Given the description of an element on the screen output the (x, y) to click on. 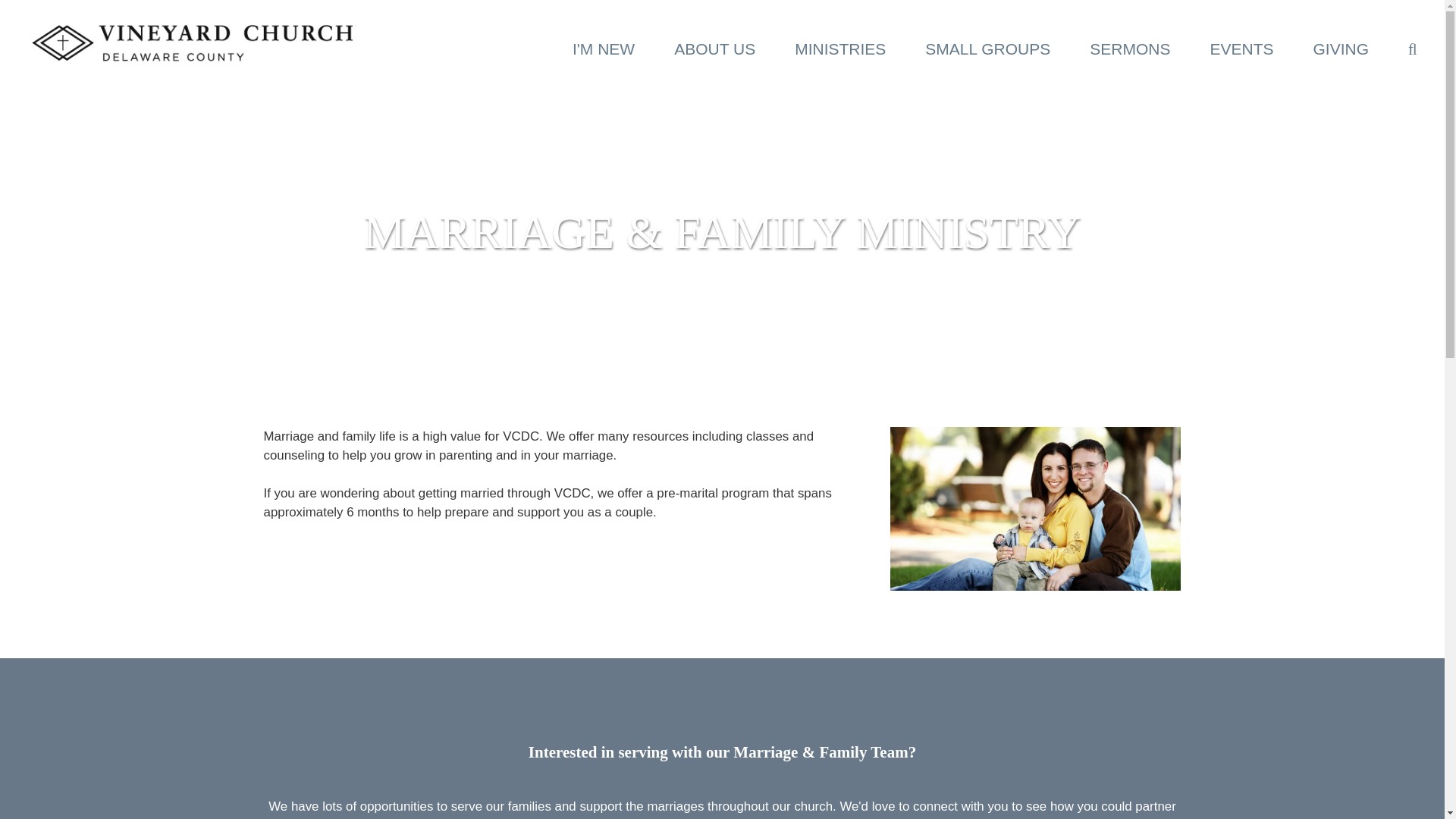
I'M NEW (603, 49)
SMALL GROUPS (986, 49)
MINISTRIES (839, 49)
ABOUT US (714, 49)
SERMONS (1129, 49)
EVENTS (1240, 49)
GIVING (1340, 49)
